Given the description of an element on the screen output the (x, y) to click on. 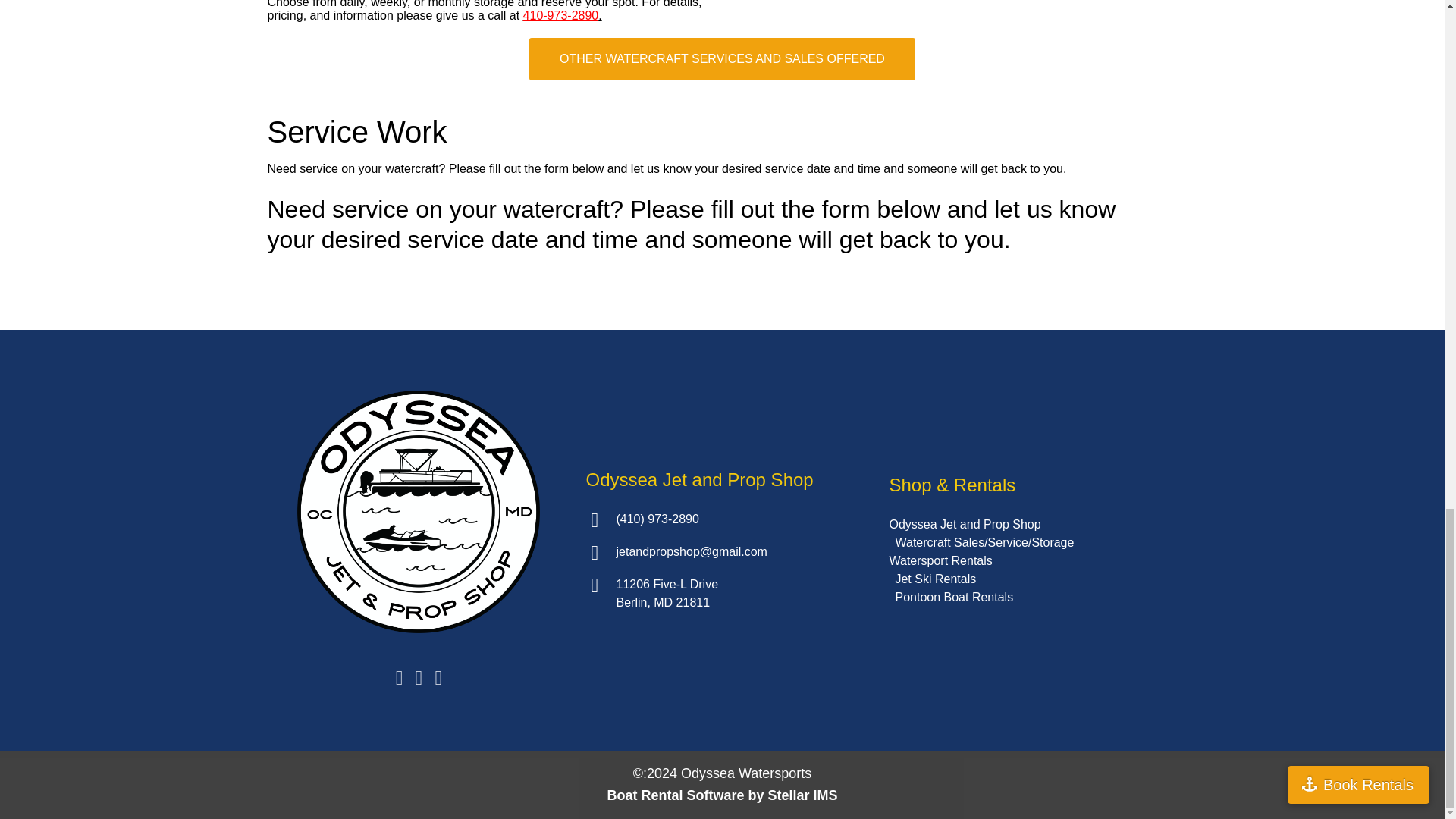
Boat Rental Software by Stellar IMS (722, 795)
